Given the description of an element on the screen output the (x, y) to click on. 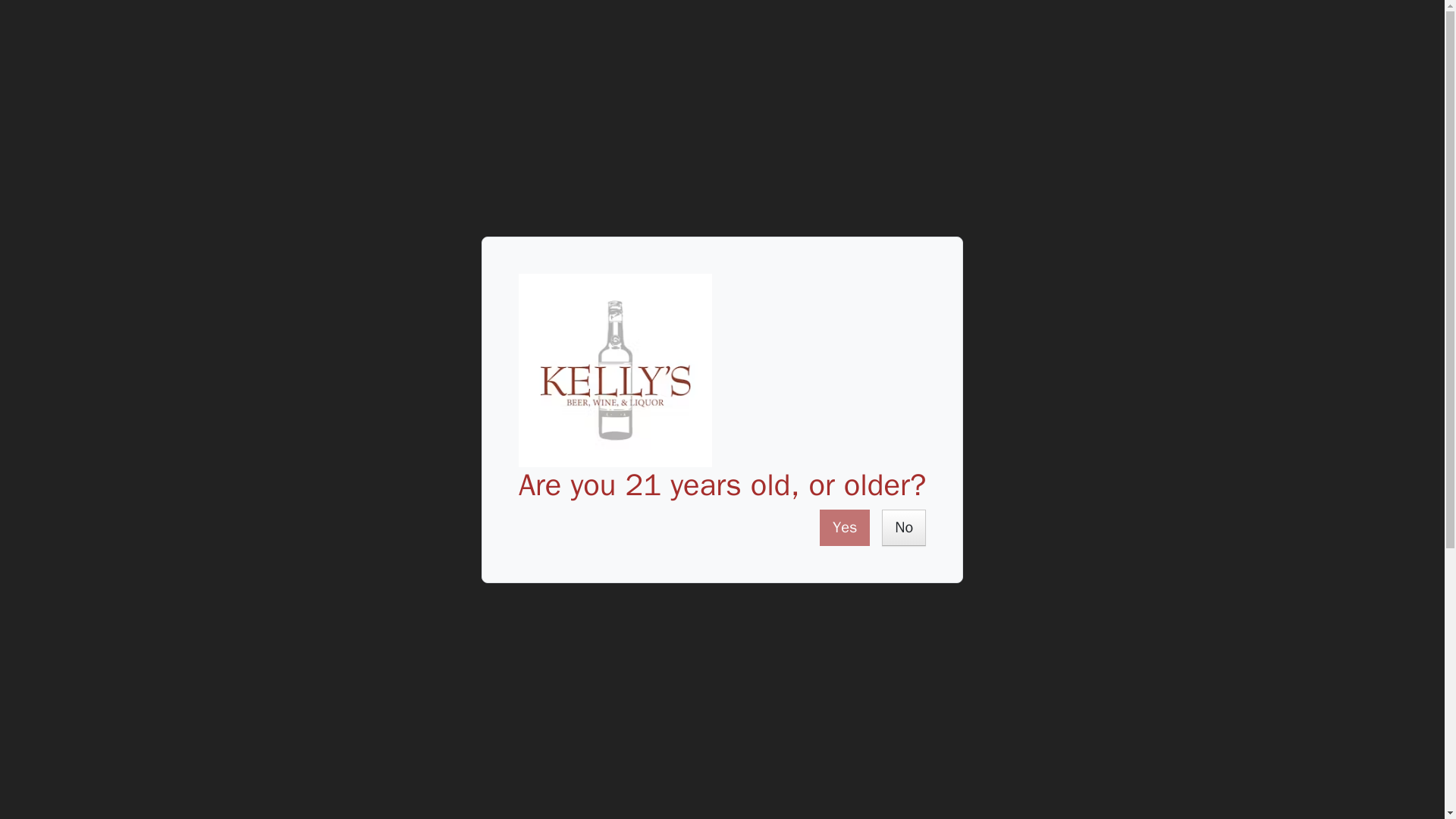
Wine Spectator 84 point rating. (774, 762)
Wine (254, 214)
973-759-2488 (49, 47)
Wine Spectator 84 point rating. (753, 407)
